Given the description of an element on the screen output the (x, y) to click on. 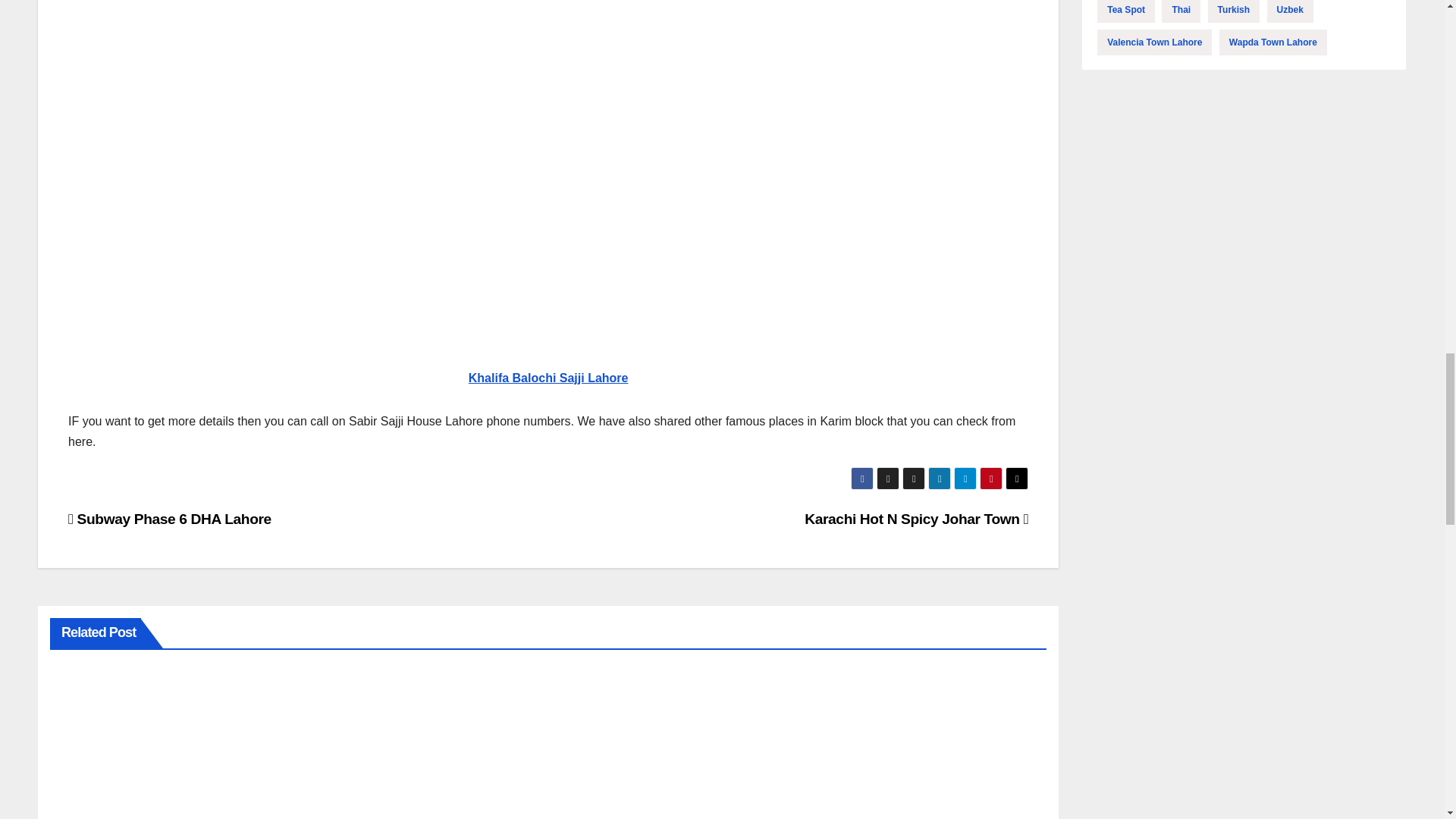
Subway Phase 6 DHA Lahore (169, 519)
Karachi Hot N Spicy Johar Town (916, 519)
Khalifa Balochi Sajji Lahore (548, 377)
